Given the description of an element on the screen output the (x, y) to click on. 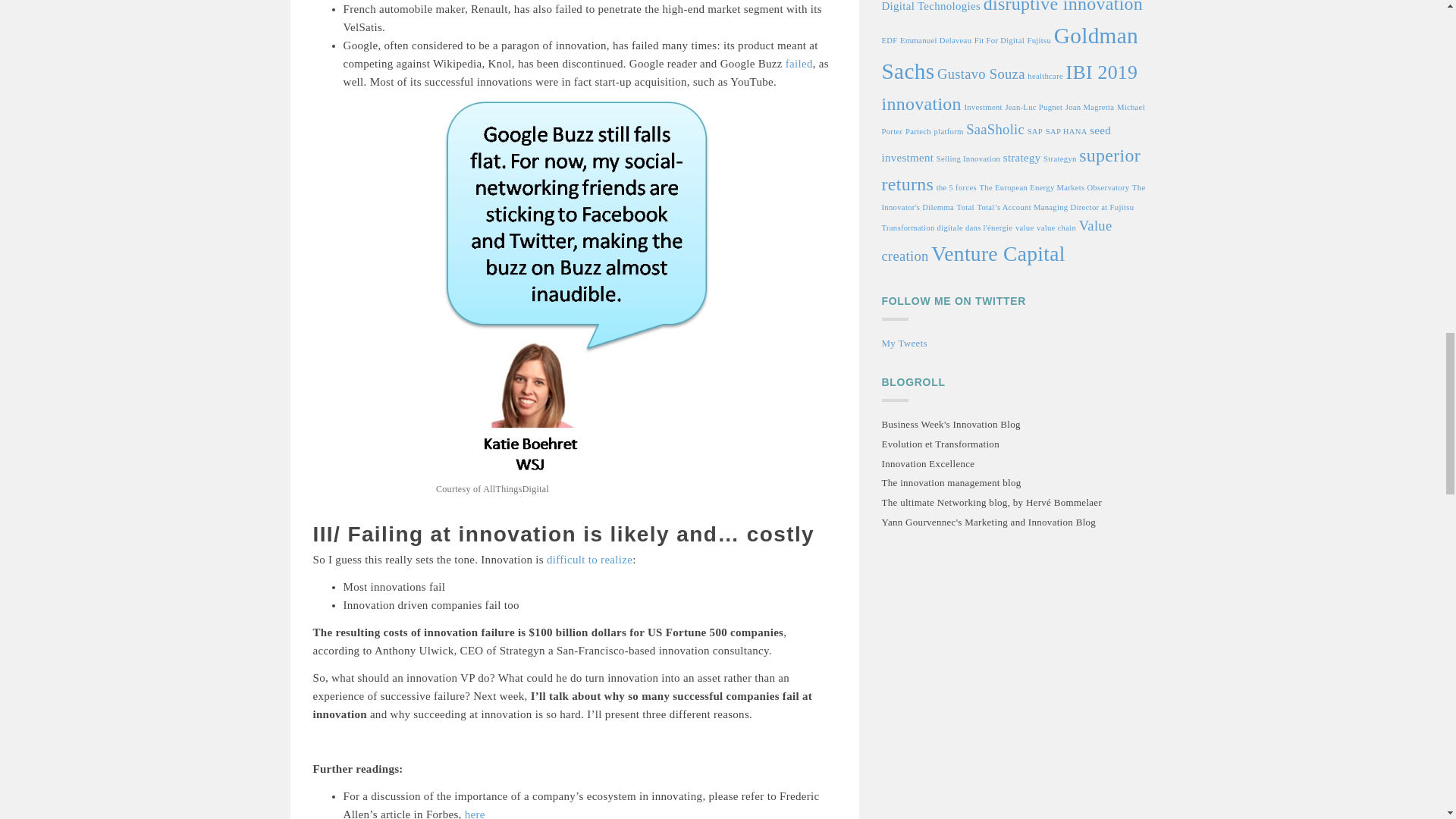
here (474, 813)
difficult to realize (589, 559)
A leading innovation management blog (950, 483)
failed (799, 63)
